Given the description of an element on the screen output the (x, y) to click on. 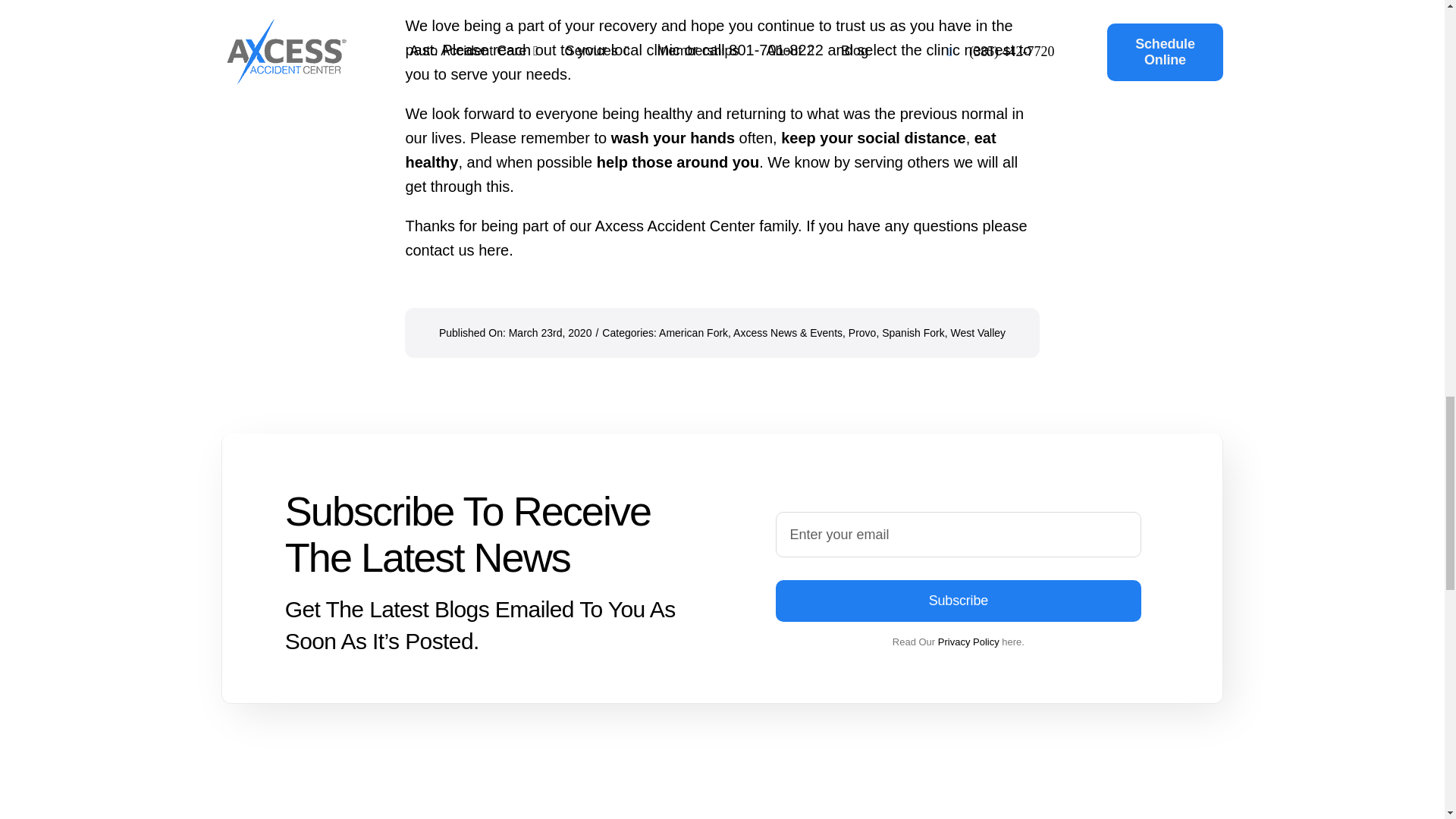
Subscribe (958, 566)
